Given the description of an element on the screen output the (x, y) to click on. 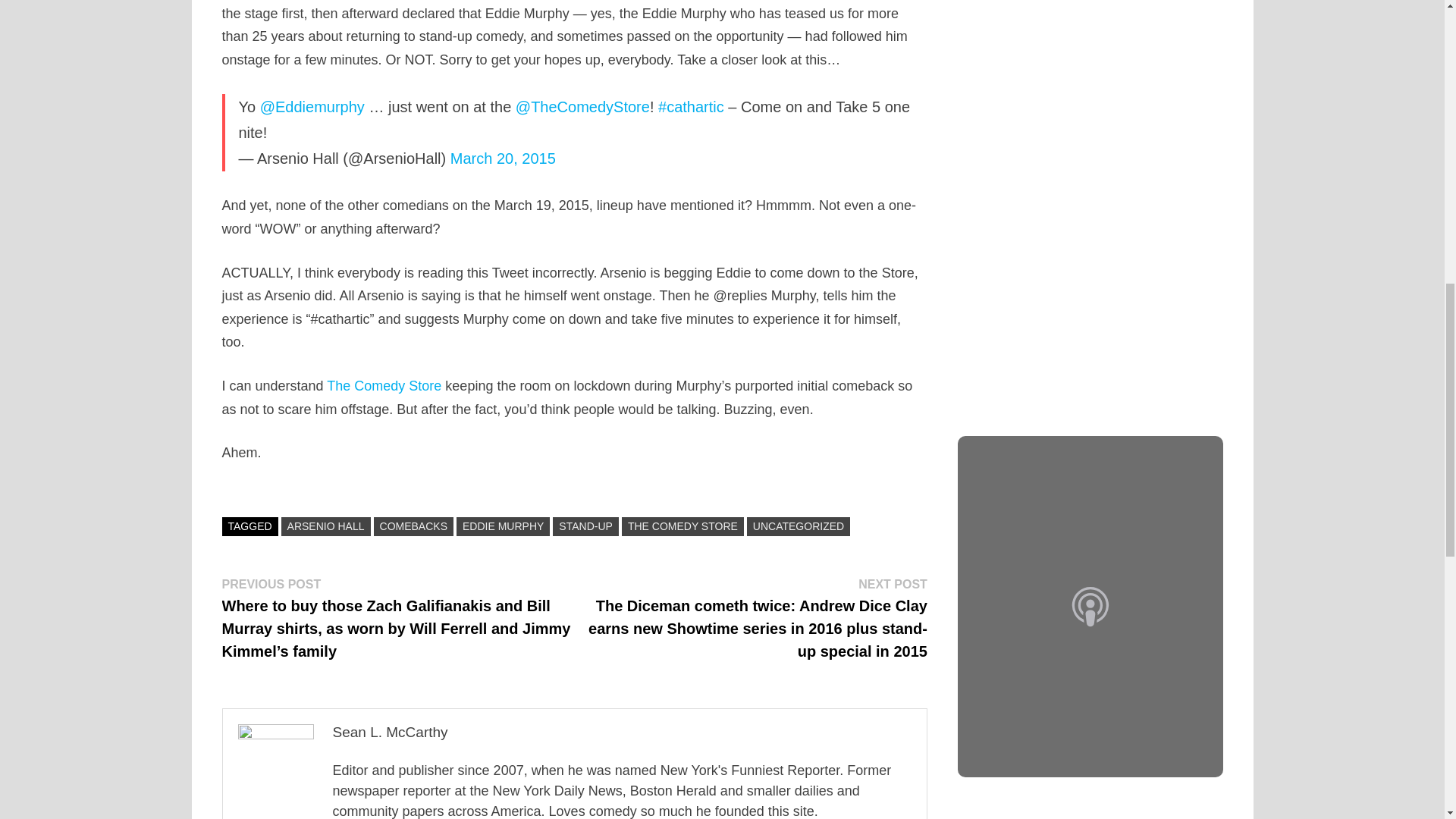
March 20, 2015 (502, 158)
UNCATEGORIZED (798, 526)
STAND-UP (585, 526)
EDDIE MURPHY (503, 526)
ARSENIO HALL (326, 526)
The Comedy Store (383, 385)
THE COMEDY STORE (682, 526)
COMEBACKS (413, 526)
